Given the description of an element on the screen output the (x, y) to click on. 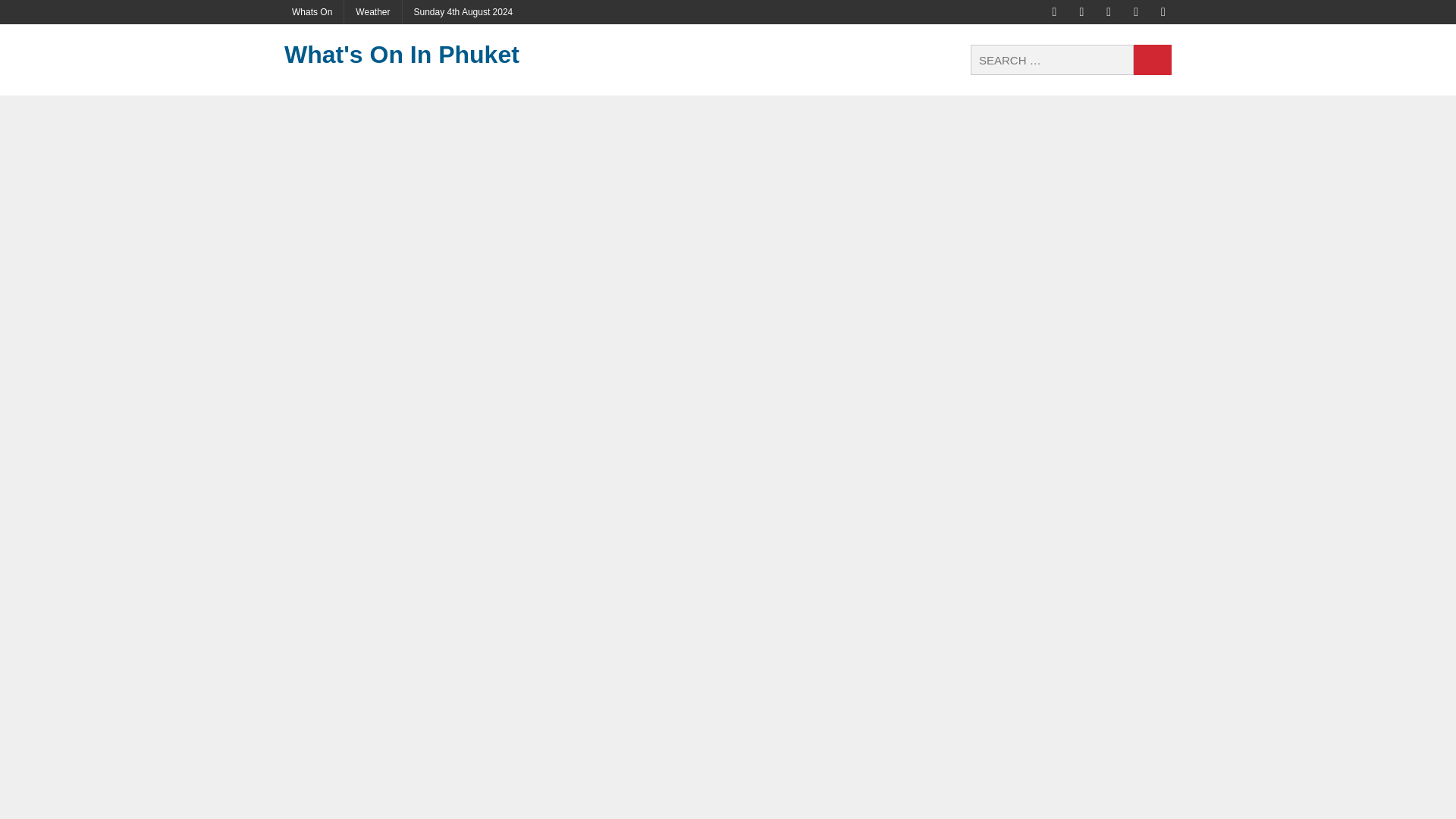
What's On In Phuket (423, 55)
Sunday 4th August 2024 (462, 12)
Search (1153, 60)
Whats On (312, 12)
Search (1153, 60)
Search (1153, 60)
Weather (372, 12)
What'S On In Phuket (423, 55)
